Given the description of an element on the screen output the (x, y) to click on. 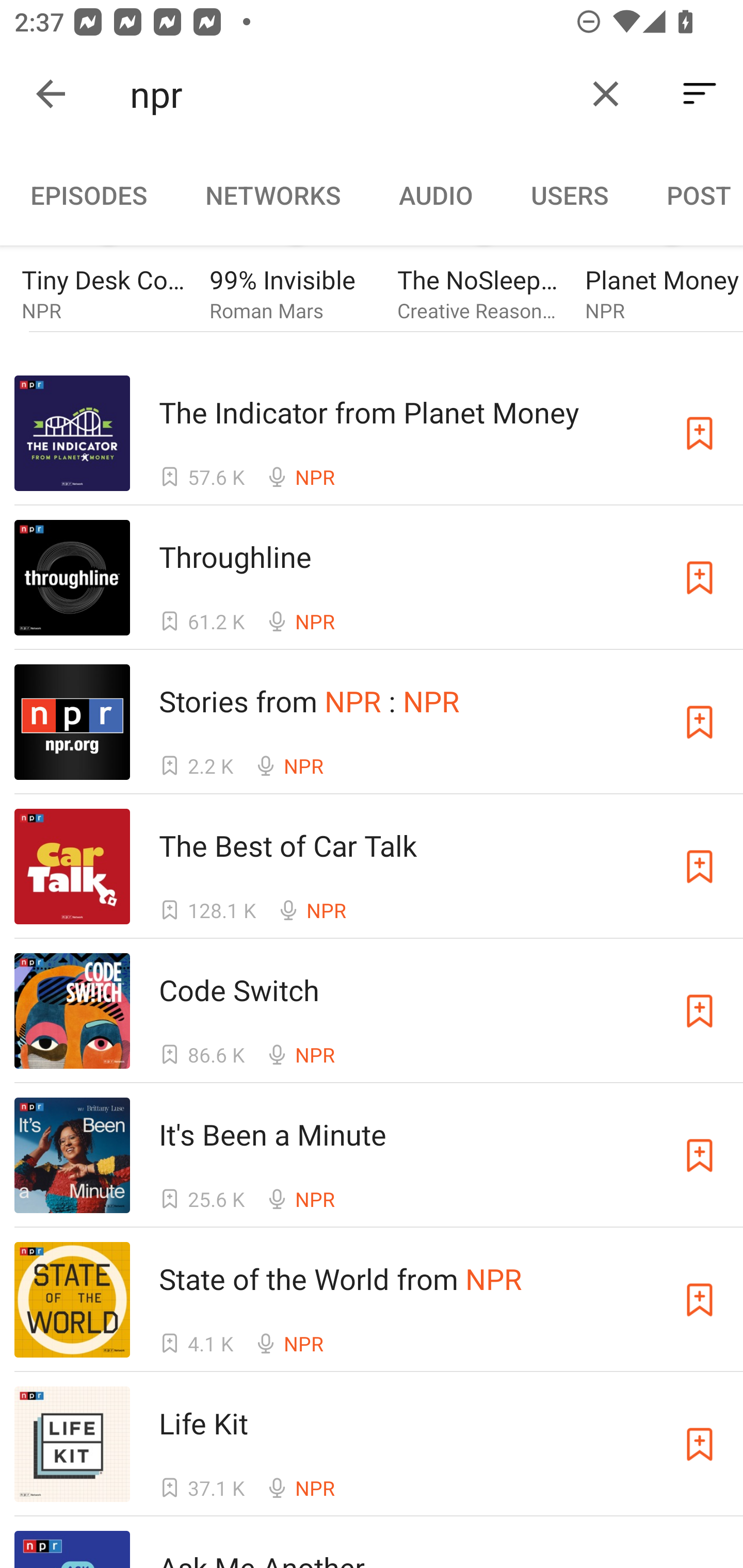
Collapse (50, 93)
Clear query (605, 93)
Sort By (699, 93)
npr (349, 94)
EPISODES (88, 195)
NETWORKS (272, 195)
AUDIO (435, 195)
USERS (569, 195)
POST (690, 195)
Tiny Desk Concerts - Audio NPR (107, 285)
99% Invisible Roman Mars (295, 285)
The NoSleep Podcast Creative Reason Media Inc. (483, 285)
Planet Money NPR (664, 285)
Subscribe (699, 432)
Throughline Throughline  61.2 K  NPR Subscribe (371, 576)
Subscribe (699, 577)
Subscribe (699, 721)
Subscribe (699, 866)
Code Switch Code Switch  86.6 K  NPR Subscribe (371, 1011)
Subscribe (699, 1011)
Subscribe (699, 1155)
Subscribe (699, 1299)
Life Kit Life Kit  37.1 K  NPR Subscribe (371, 1444)
Subscribe (699, 1444)
